Given the description of an element on the screen output the (x, y) to click on. 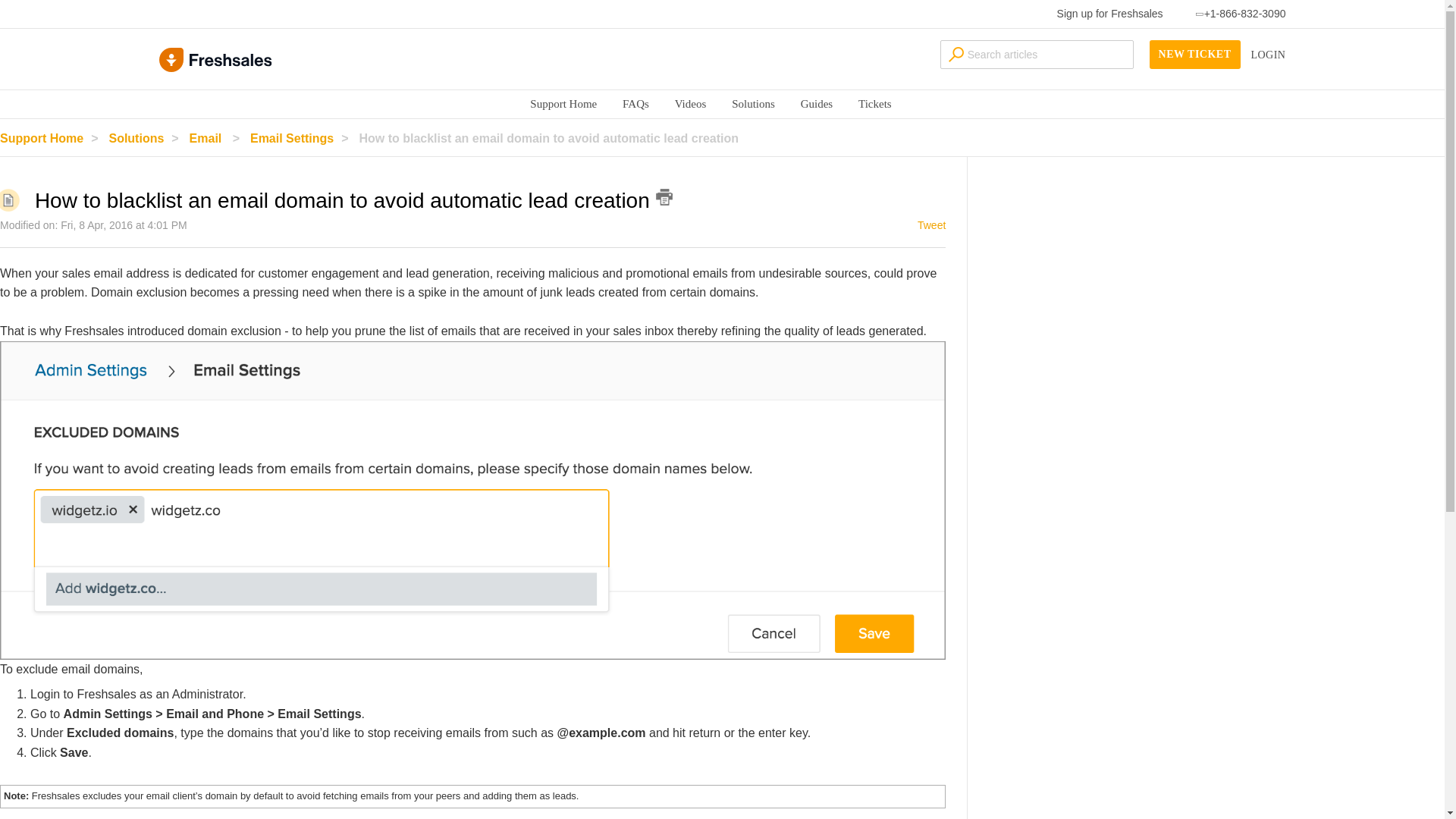
Email Settings (303, 137)
FAQs (636, 103)
Videos (690, 103)
LOGIN (1267, 55)
Support Home (562, 103)
Videos (690, 103)
Support Home (53, 137)
Solutions (753, 103)
FAQs (636, 103)
